Given the description of an element on the screen output the (x, y) to click on. 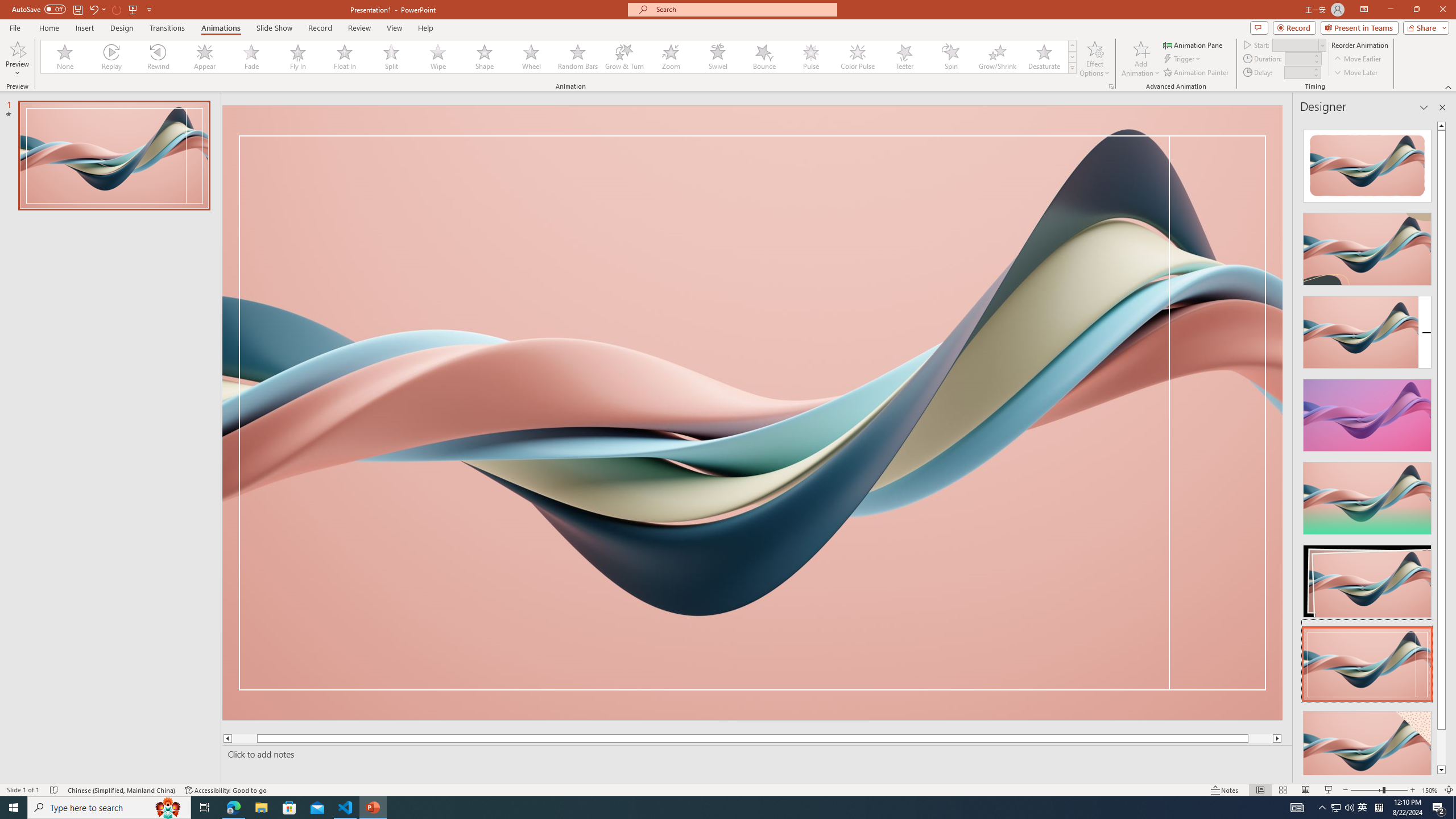
Color Pulse (857, 56)
Wavy 3D art (752, 412)
Move Earlier (1357, 58)
Wheel (531, 56)
